Given the description of an element on the screen output the (x, y) to click on. 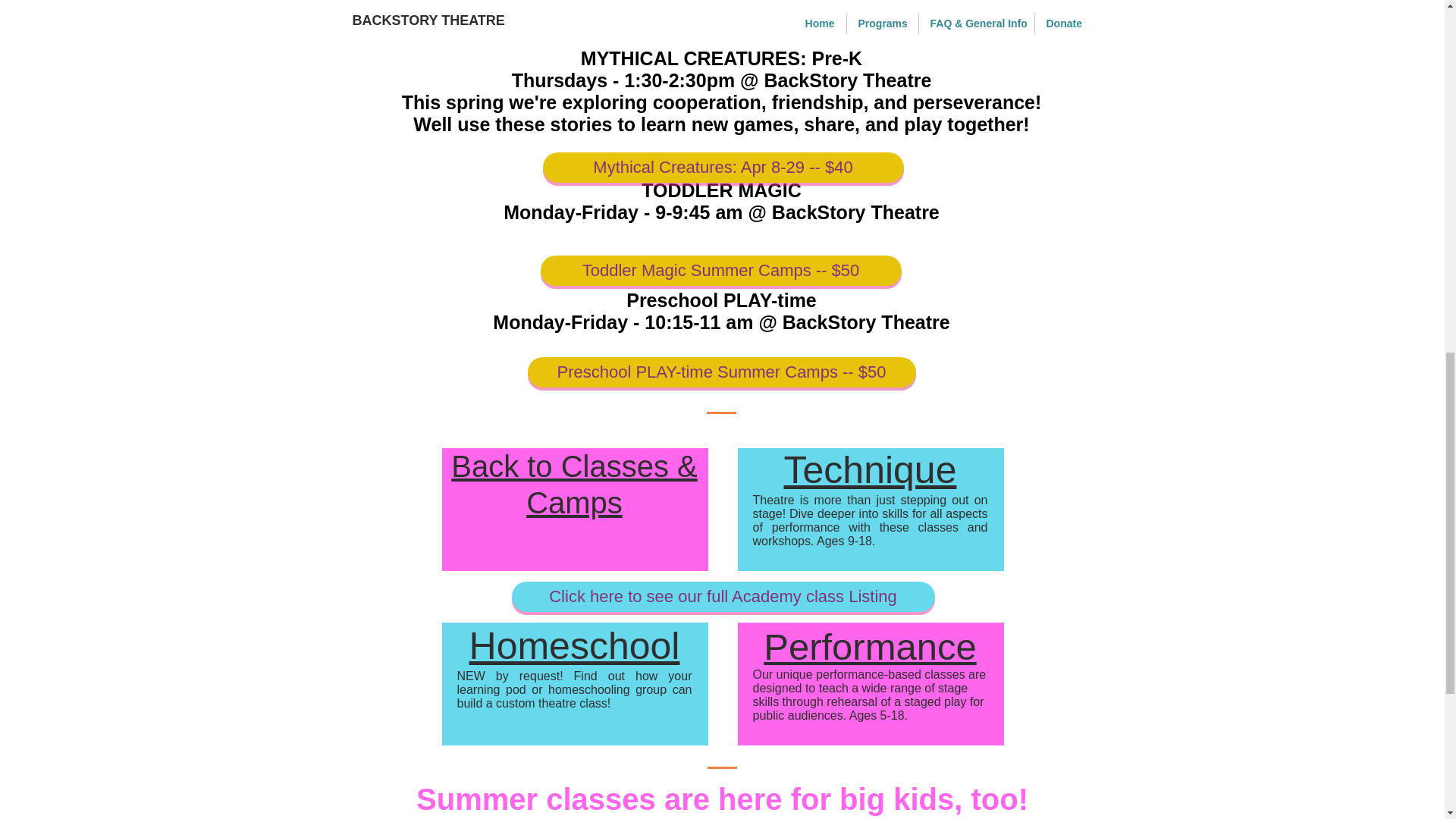
Homeschool (573, 645)
Technique (870, 469)
Click here to see our full Academy class Listing (722, 596)
Performance (869, 646)
